Given the description of an element on the screen output the (x, y) to click on. 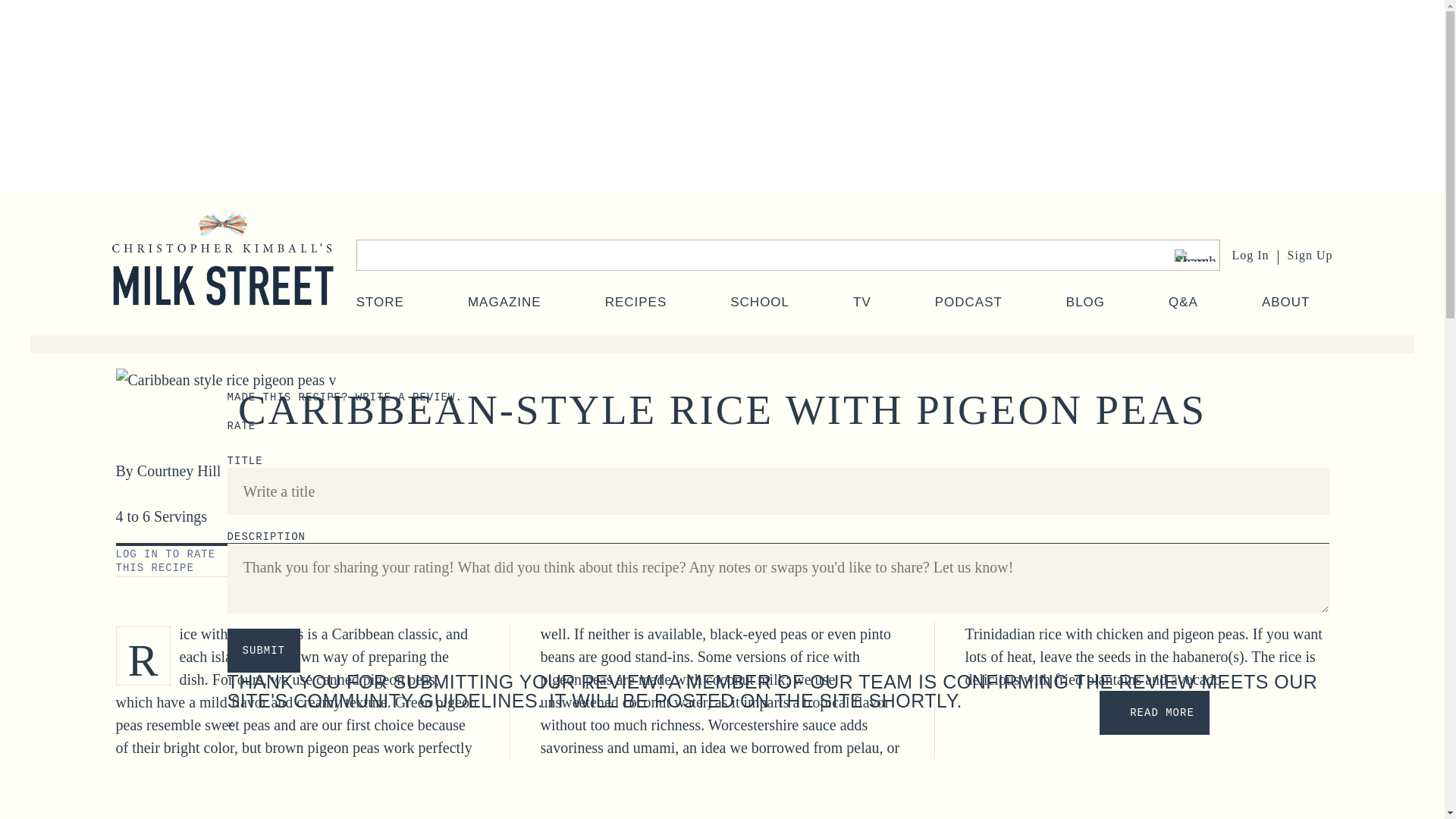
Sign Up (1310, 255)
STORE (380, 301)
Log In (1249, 255)
Christopher Kimball's Milk Street (222, 274)
MAGAZINE (504, 301)
Submit (263, 650)
Search (1193, 255)
